Given the description of an element on the screen output the (x, y) to click on. 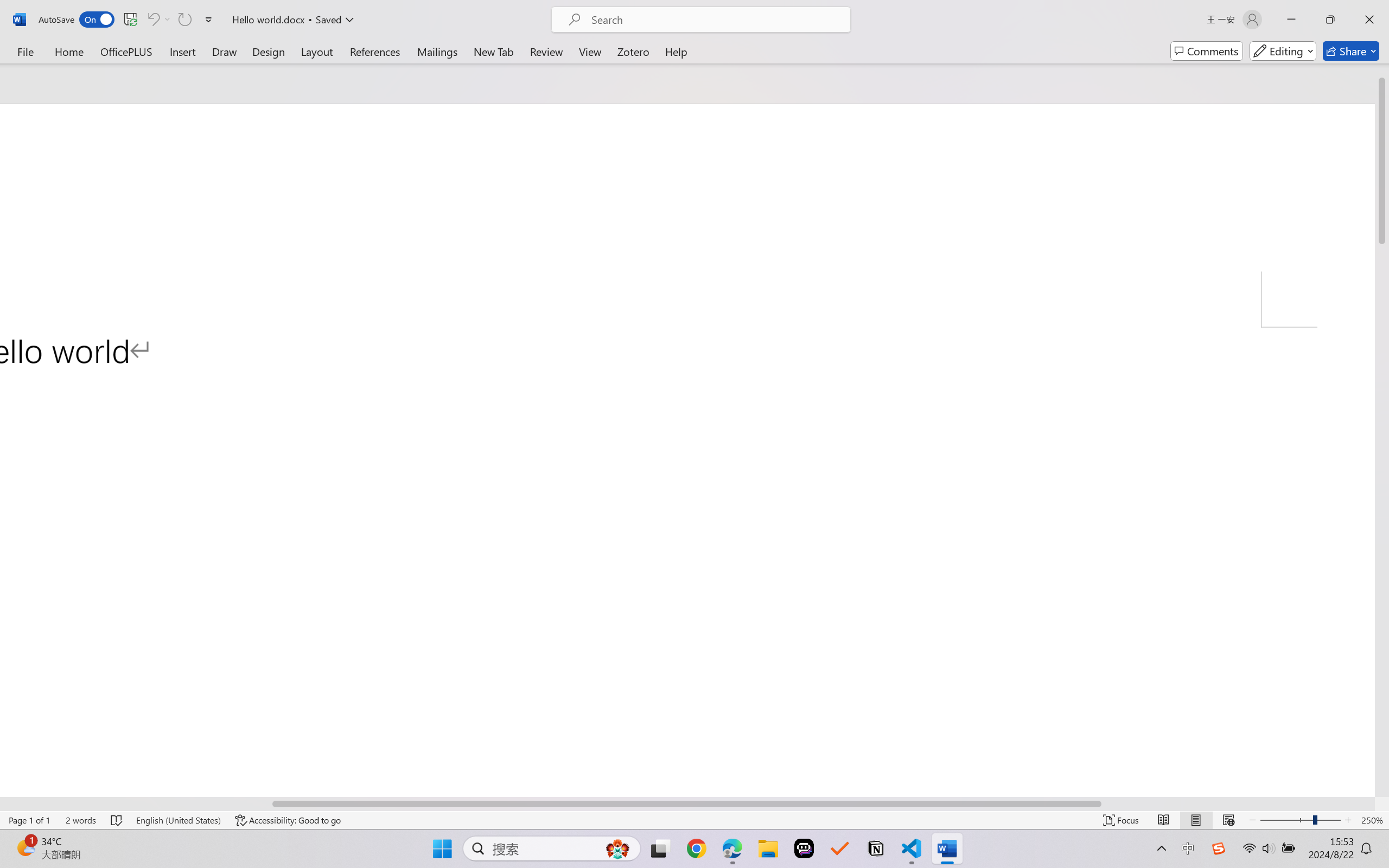
Review (546, 51)
Zoom In (1348, 819)
Mode (1283, 50)
Zoom 100% (1372, 819)
Can't Repeat (184, 19)
Help (675, 51)
Minimize (1291, 19)
AutomationID: DynamicSearchBoxGleamImage (617, 848)
Class: MsoCommandBar (694, 819)
